Given the description of an element on the screen output the (x, y) to click on. 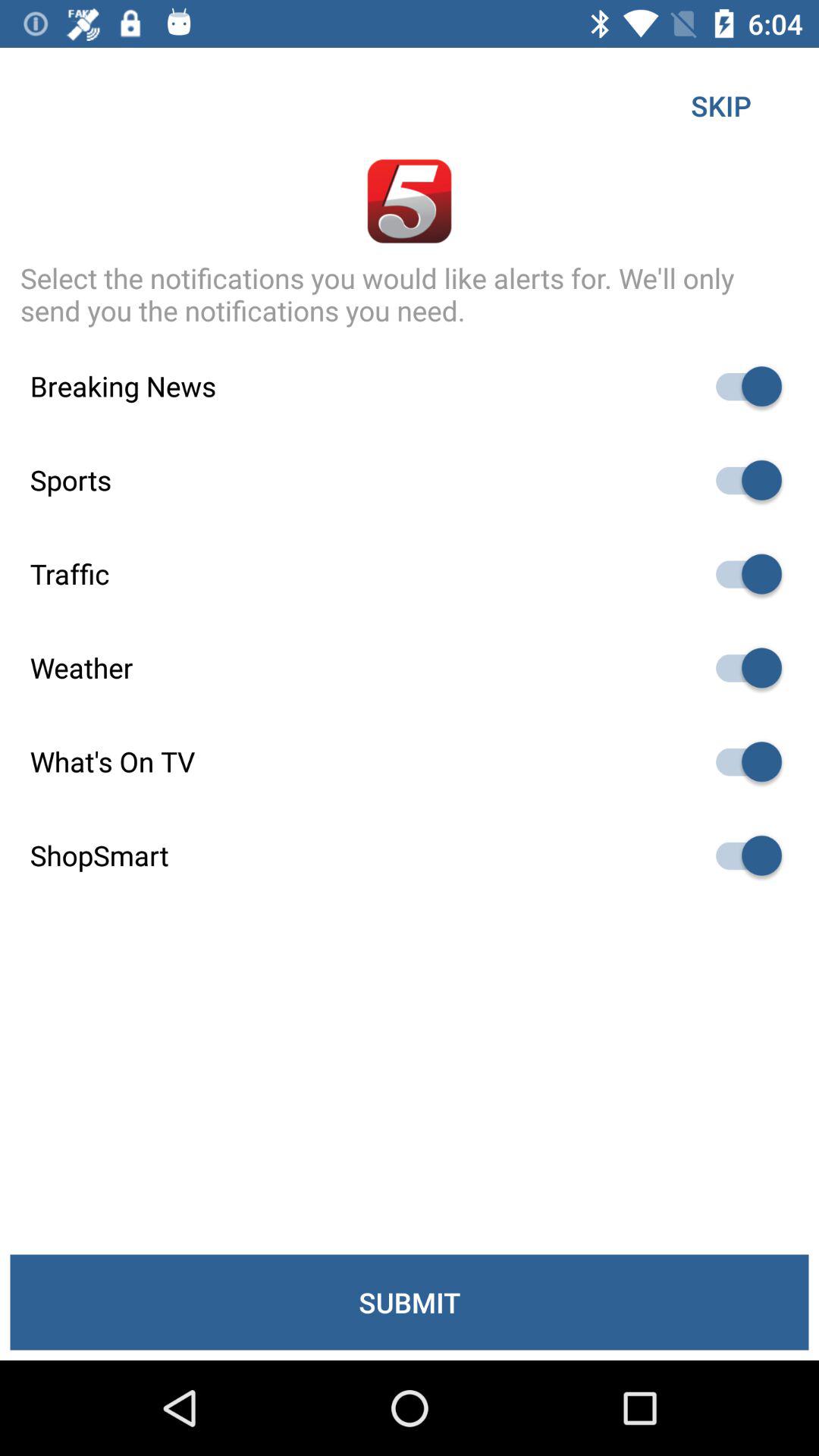
toggle notifications (741, 480)
